Given the description of an element on the screen output the (x, y) to click on. 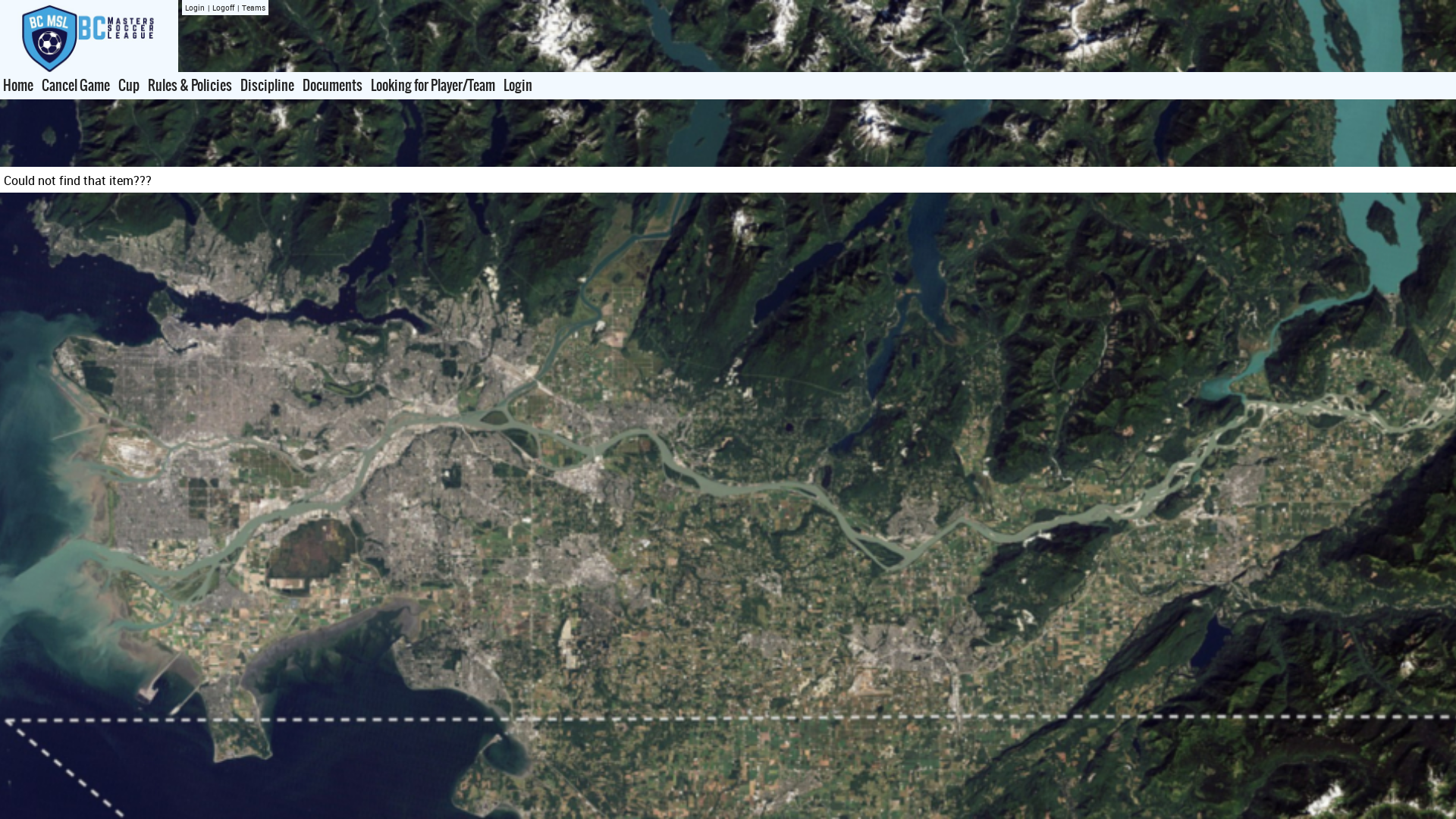
Home Element type: text (18, 85)
Teams Element type: text (253, 7)
Login Element type: text (194, 7)
Login Element type: text (517, 85)
Cancel Game Element type: text (75, 85)
Rules & Policies Element type: text (189, 85)
Logoff Element type: text (223, 7)
Looking for Player/Team Element type: text (432, 85)
